Given the description of an element on the screen output the (x, y) to click on. 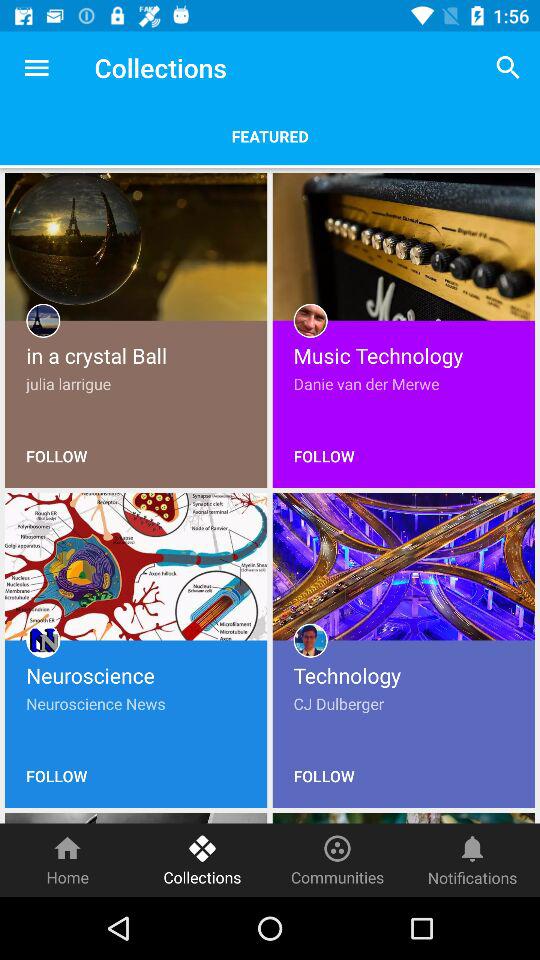
press item to the right of the collections item (337, 859)
